Given the description of an element on the screen output the (x, y) to click on. 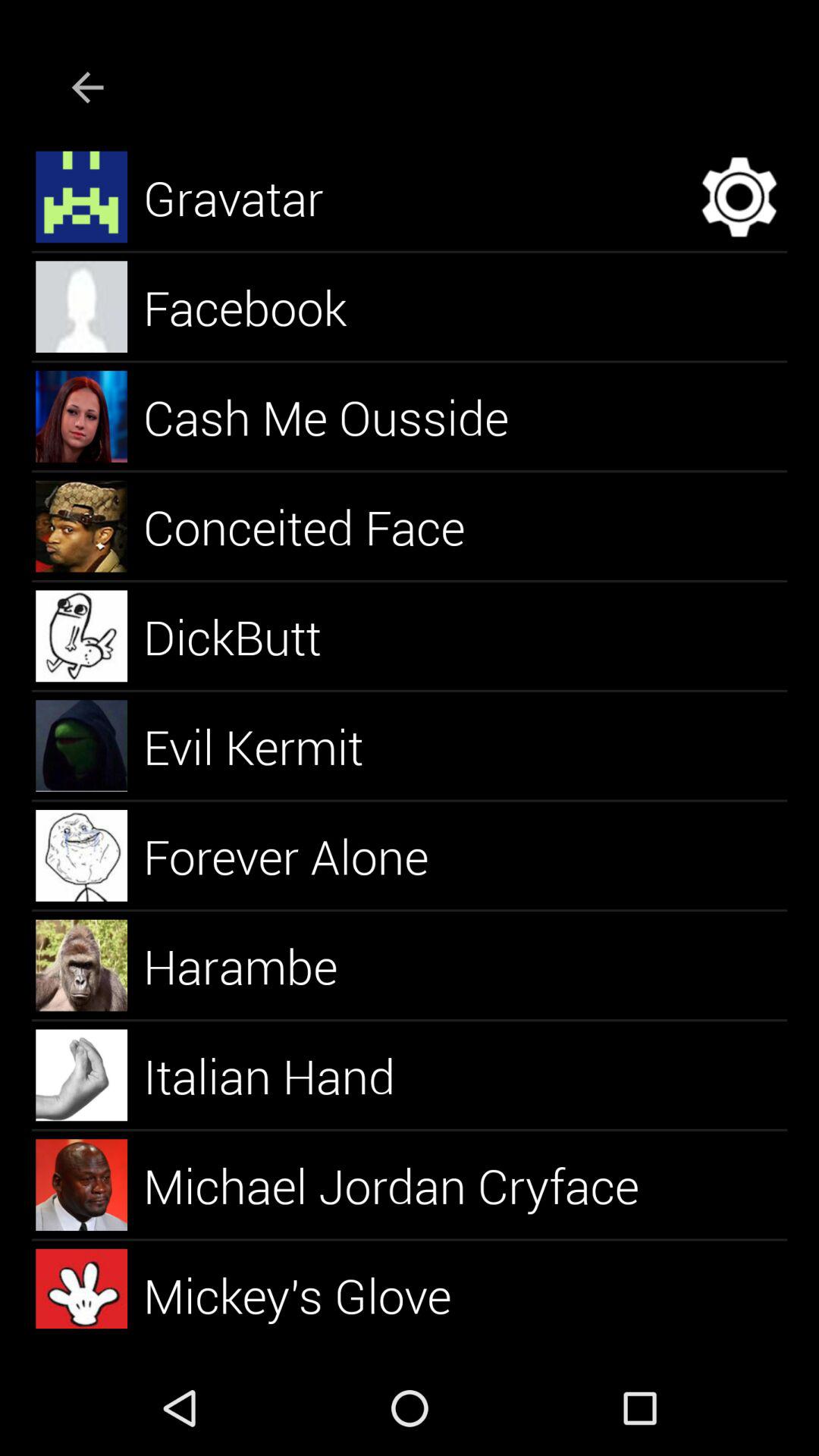
jump until evil kermit icon (271, 745)
